Given the description of an element on the screen output the (x, y) to click on. 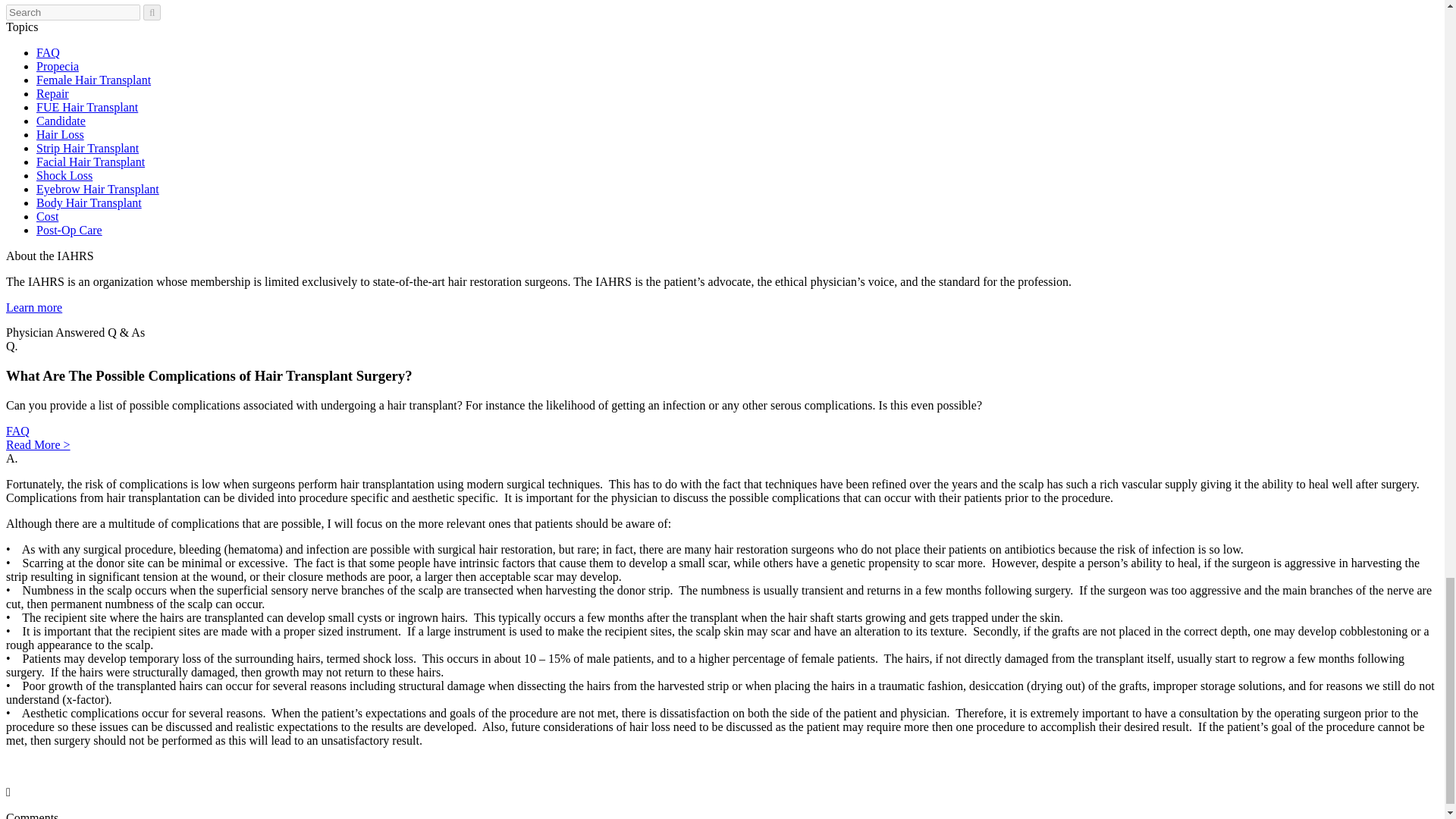
FUE Hair Transplant (87, 106)
Candidate (60, 120)
FAQ (17, 431)
Body Hair Transplant (88, 202)
Female Hair Transplant (93, 79)
Cost (47, 215)
Shock Loss (64, 174)
Propecia (57, 65)
Post-Op Care (68, 229)
Strip Hair Transplant (87, 147)
